Given the description of an element on the screen output the (x, y) to click on. 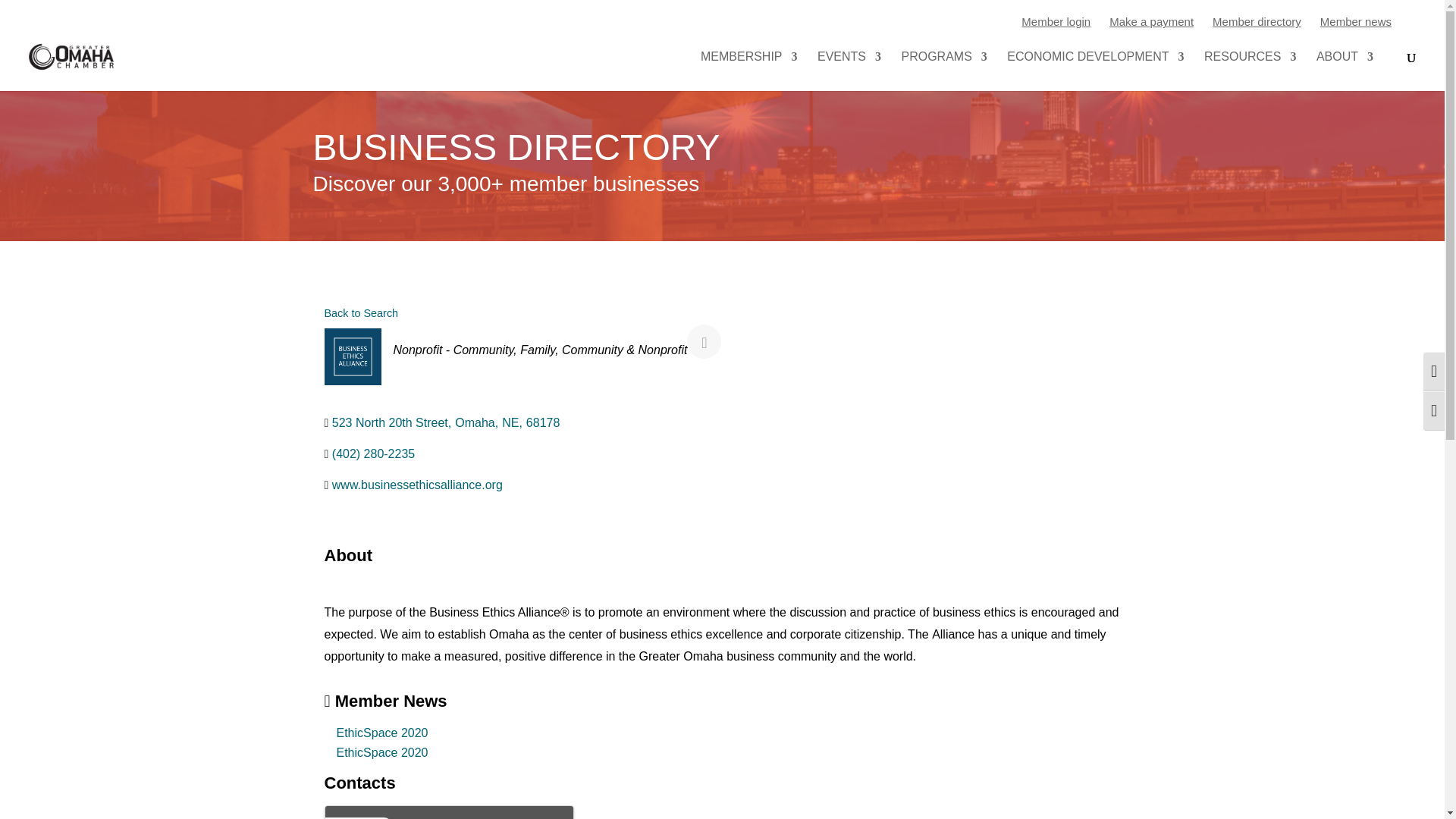
EVENTS (848, 70)
MEMBERSHIP (748, 70)
PROGRAMS (944, 70)
Member news (1355, 21)
Member login (1056, 21)
Member directory (1256, 21)
ECONOMIC DEVELOPMENT (1095, 70)
Make a payment (1151, 21)
